Given the description of an element on the screen output the (x, y) to click on. 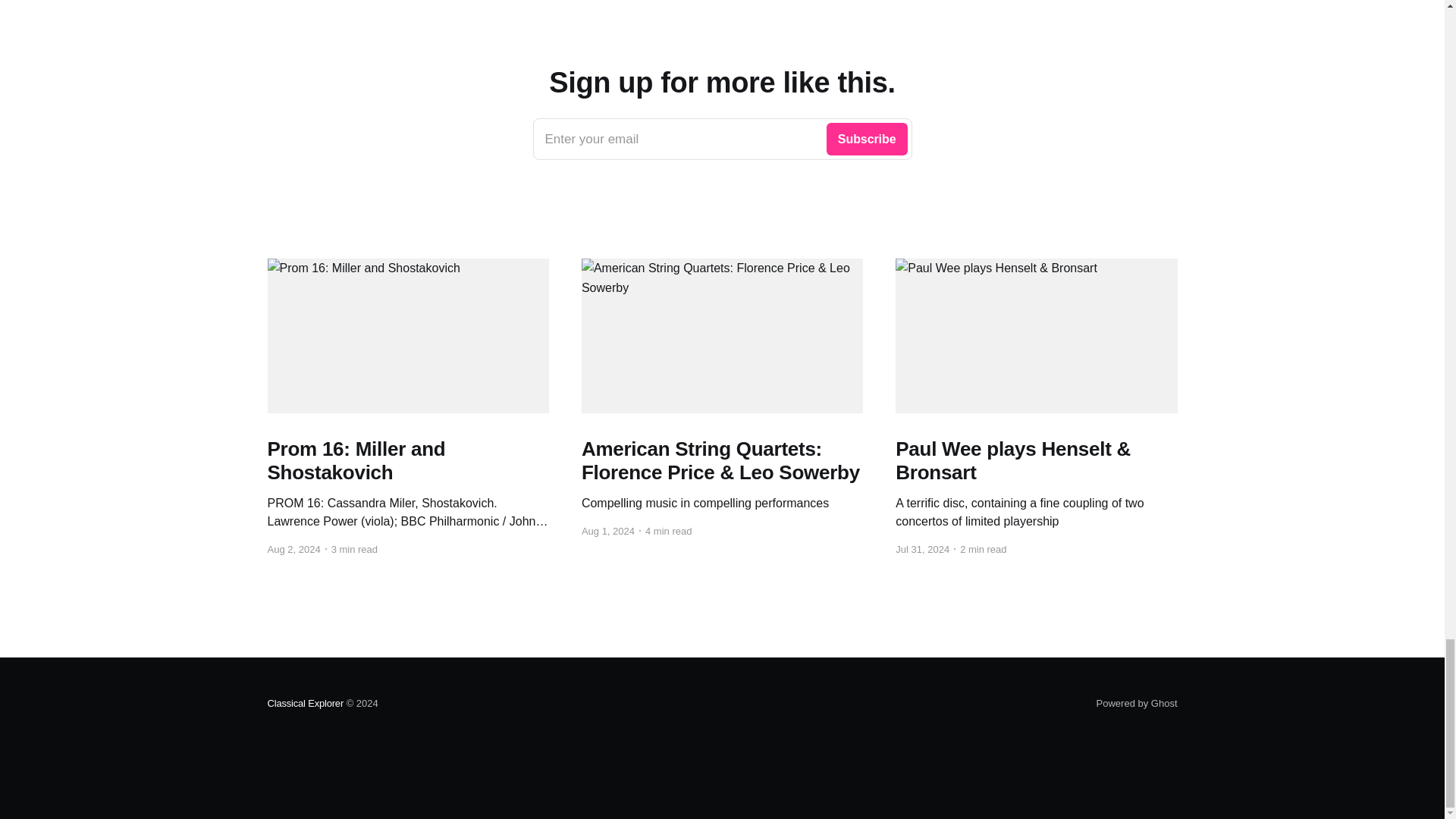
Powered by Ghost (721, 138)
Classical Explorer (1136, 703)
